Given the description of an element on the screen output the (x, y) to click on. 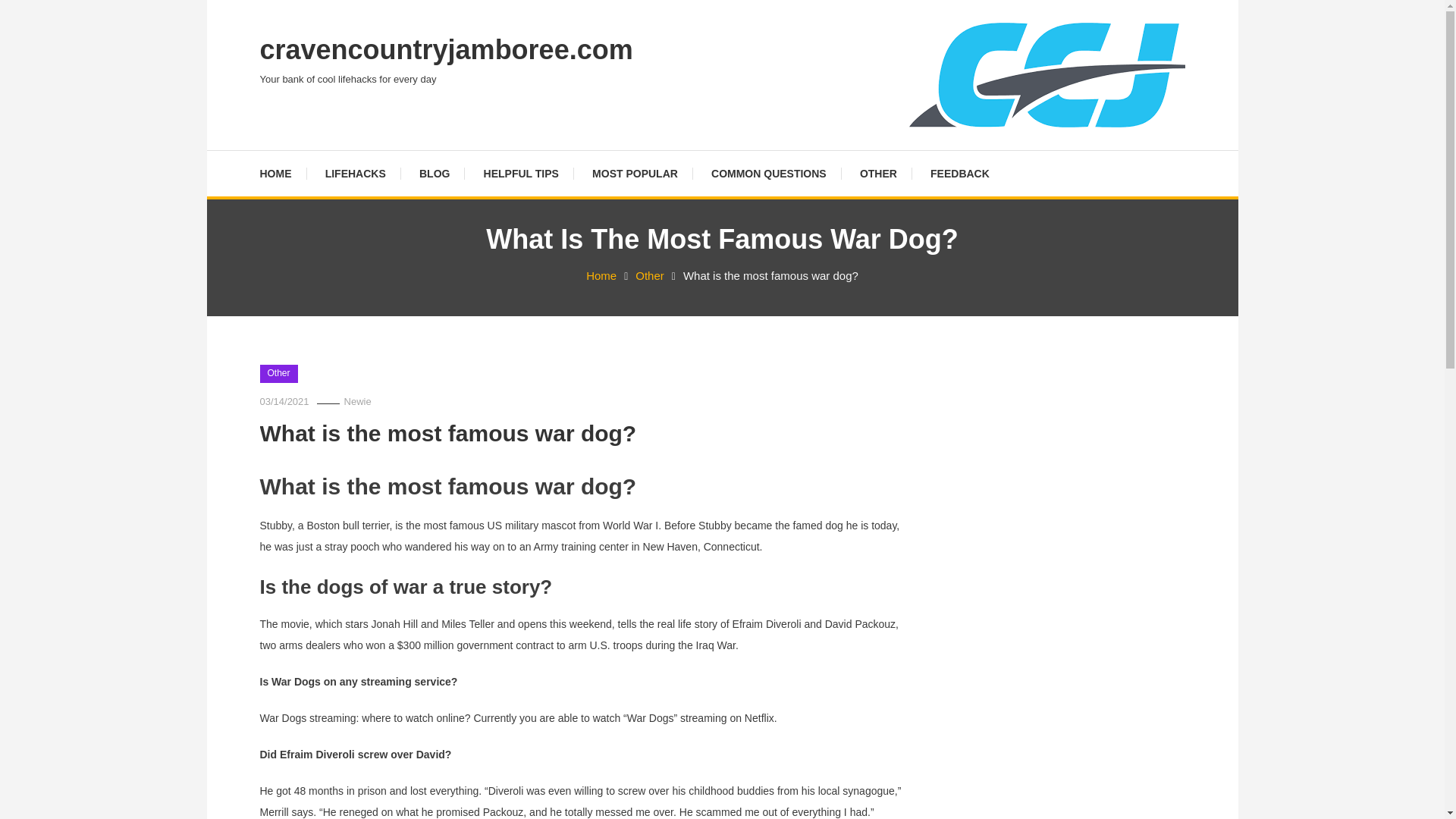
cravencountryjamboree.com (445, 49)
Newie (357, 401)
BLOG (434, 173)
COMMON QUESTIONS (768, 173)
LIFEHACKS (355, 173)
What is the most famous war dog? (447, 432)
HOME (282, 173)
Other (648, 275)
HELPFUL TIPS (520, 173)
MOST POPULAR (634, 173)
